Given the description of an element on the screen output the (x, y) to click on. 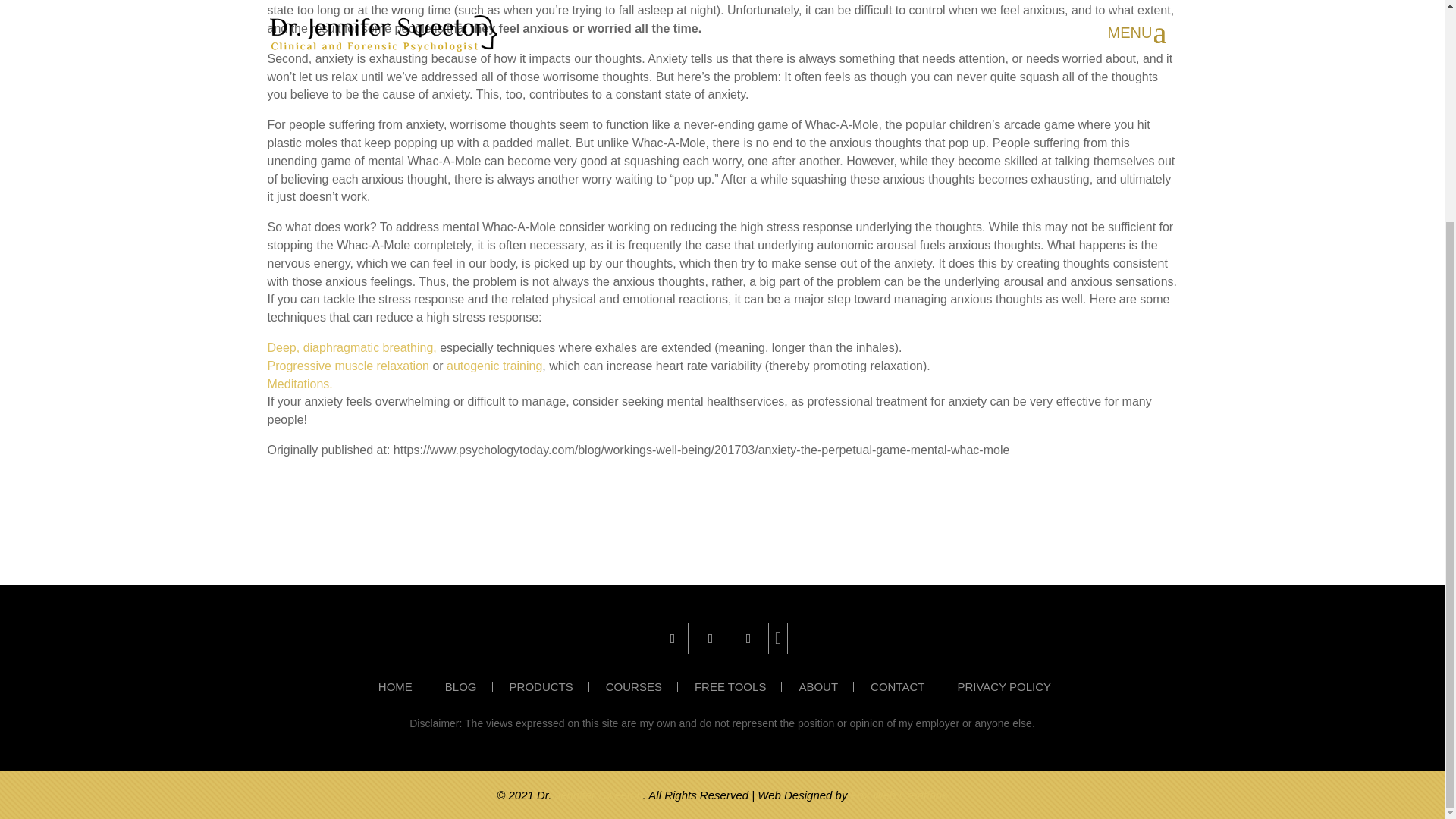
PRODUCTS (549, 686)
Follow on LinkedIn (710, 638)
HOME (403, 686)
PRIVACY POLICY (1010, 686)
FREE TOOLS (737, 686)
Deep, diaphragmatic breathing, (352, 347)
ABOUT (825, 686)
Follow on Youtube (748, 638)
COURSES (641, 686)
BLOG (469, 686)
Progressive muscle relaxation (349, 365)
Meditations. (298, 383)
autogenic training (493, 365)
Jennifer Sweeton (598, 794)
CONTACT (905, 686)
